Given the description of an element on the screen output the (x, y) to click on. 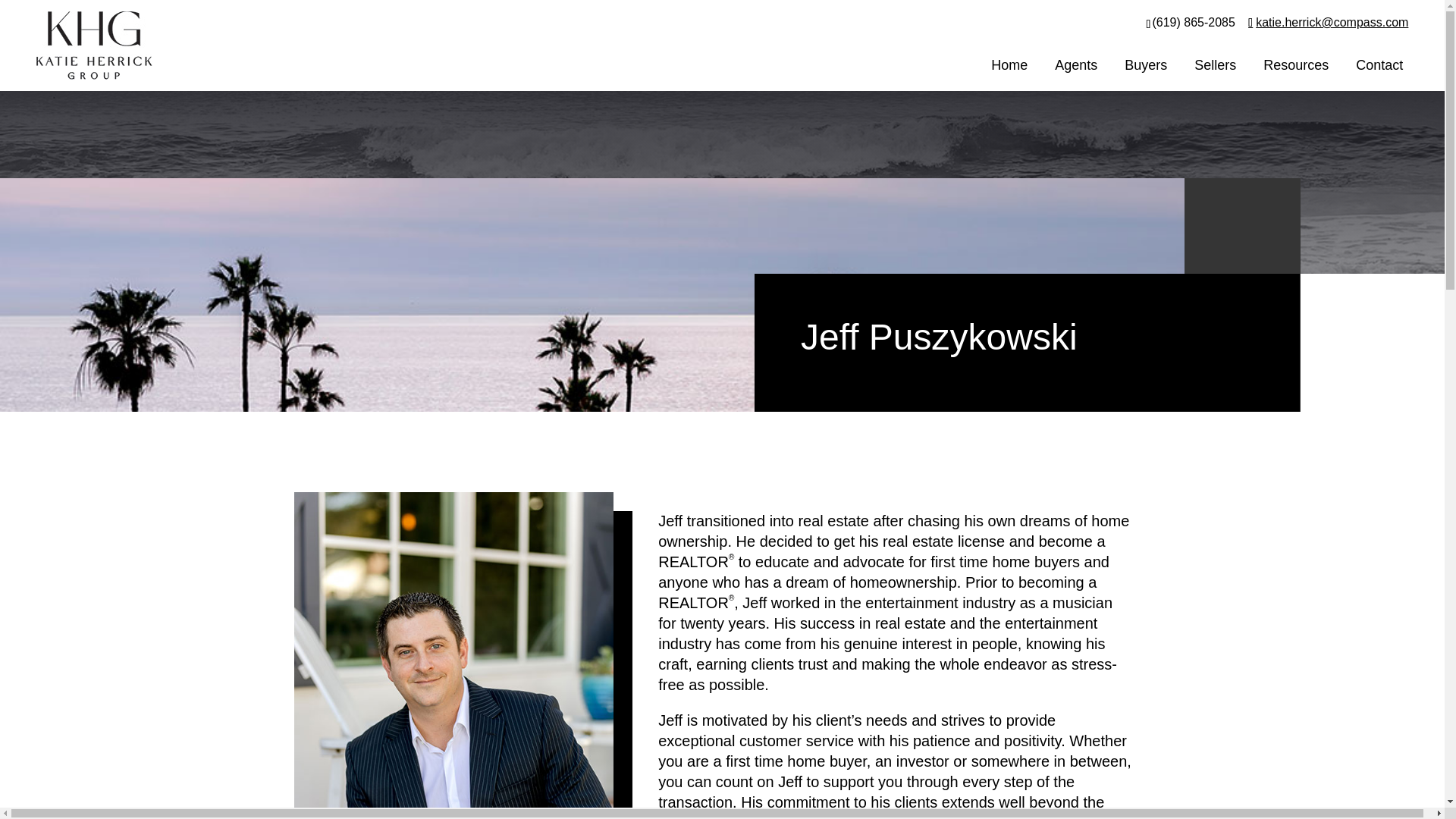
Contact (1379, 67)
Katie Herrick Group Logo (94, 45)
Sellers (1214, 67)
Jeffrey Puszykowski (453, 655)
Buyers (1145, 67)
Resources (1295, 67)
Agents (1075, 67)
Home (1009, 67)
